Given the description of an element on the screen output the (x, y) to click on. 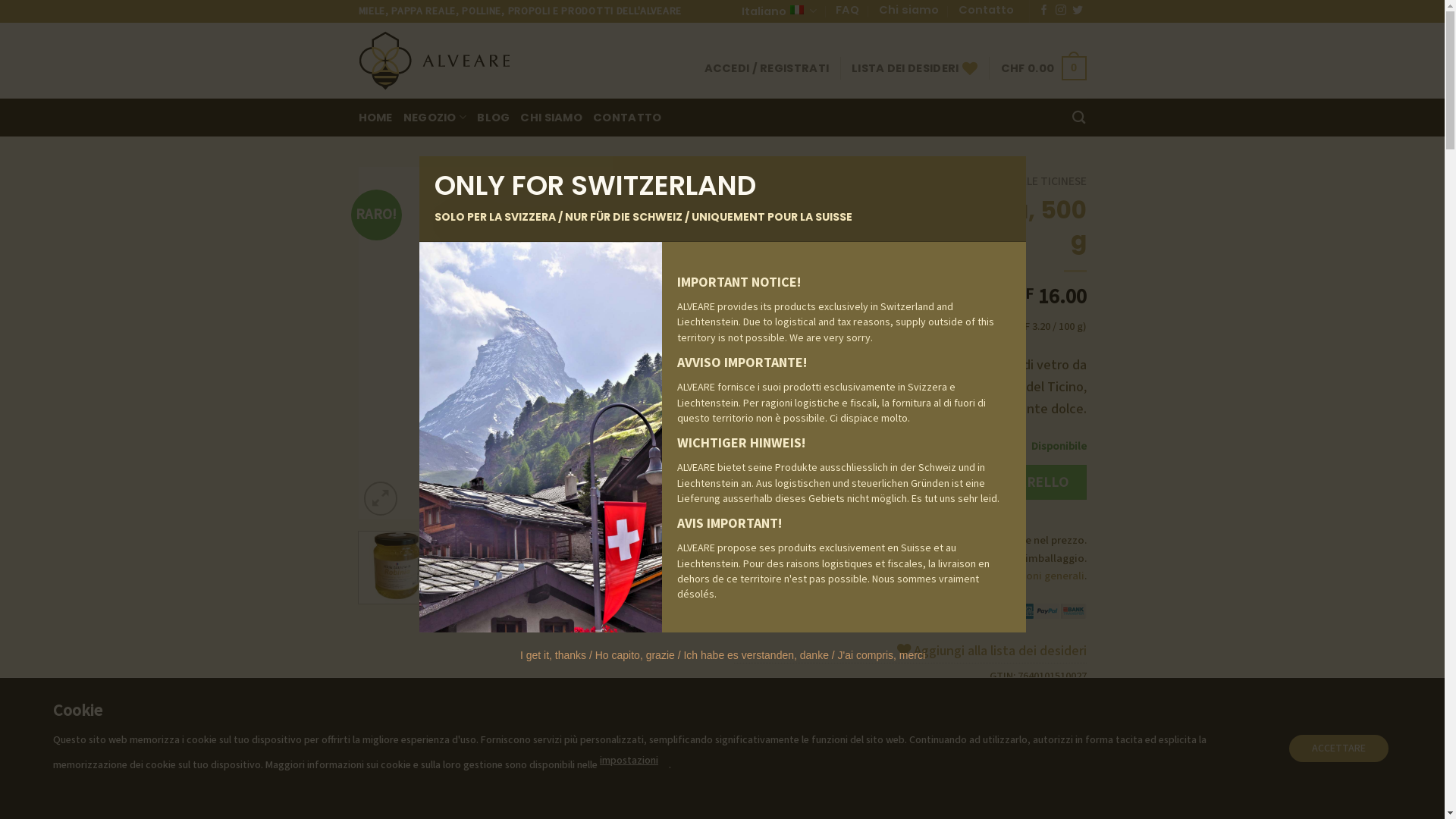
BLOG Element type: text (492, 117)
Miele ticinese Element type: text (1019, 728)
Contatto Element type: text (985, 9)
NEGOZIO Element type: text (435, 116)
Miele Element type: text (833, 754)
Seguici su Twitter Element type: hover (1077, 10)
Italiano Element type: text (778, 10)
ACCEDI / REGISTRATI Element type: text (766, 67)
HOME Element type: text (830, 180)
FAQ Element type: text (847, 9)
AGGIUNGI AL CARRELLO Element type: text (989, 481)
LISTA DEI DESIDERI Element type: text (914, 67)
Salta ai contenuti Element type: text (0, 0)
Chi siamo Element type: text (908, 9)
CHF 0.00
0 Element type: text (1043, 67)
MIELE Element type: text (978, 180)
Ticino Element type: text (1070, 772)
Aggiungi alla lista dei desideri Element type: text (990, 650)
HOME Element type: text (374, 117)
CONTATTO Element type: text (627, 117)
Miele Element type: text (1073, 728)
Seguici su Facebook Element type: hover (1043, 10)
Seguici su Instagram Element type: hover (1060, 10)
Robinia pseudoacacia Element type: text (1033, 763)
Miele di robinia Element type: text (890, 754)
Miele ticinese Element type: text (966, 754)
ACCETTARE Element type: text (1338, 748)
condizioni generali Element type: text (1035, 575)
Robinia Element type: text (1025, 754)
MIELE TICINESE Element type: text (1046, 180)
NEGOZIO ONLINE Element type: text (905, 180)
impostazioni Element type: text (628, 759)
CHI SIAMO Element type: text (551, 117)
Zoom Element type: hover (381, 498)
